Given the description of an element on the screen output the (x, y) to click on. 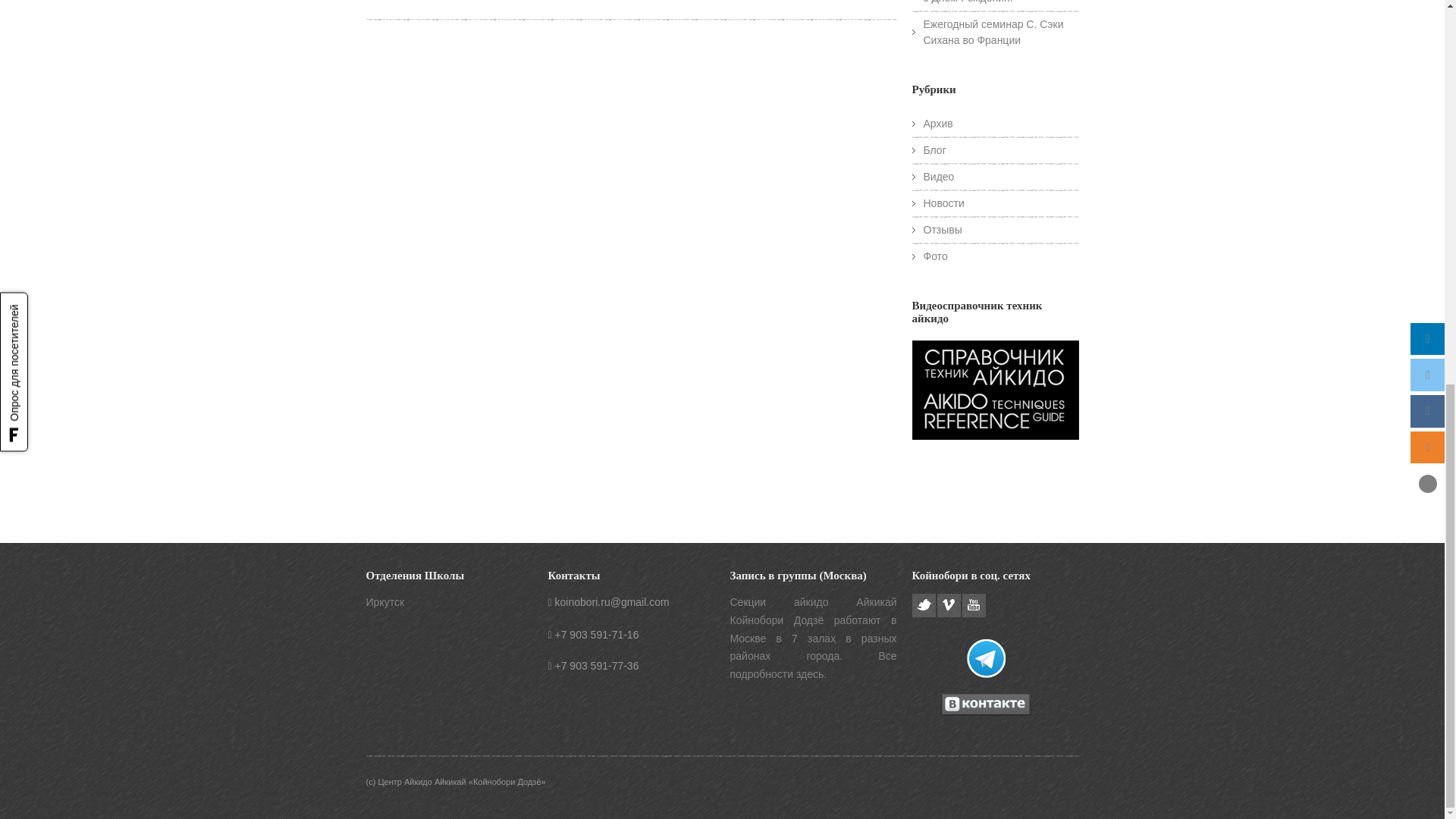
Vimeo (948, 605)
Twitter (922, 605)
